Given the description of an element on the screen output the (x, y) to click on. 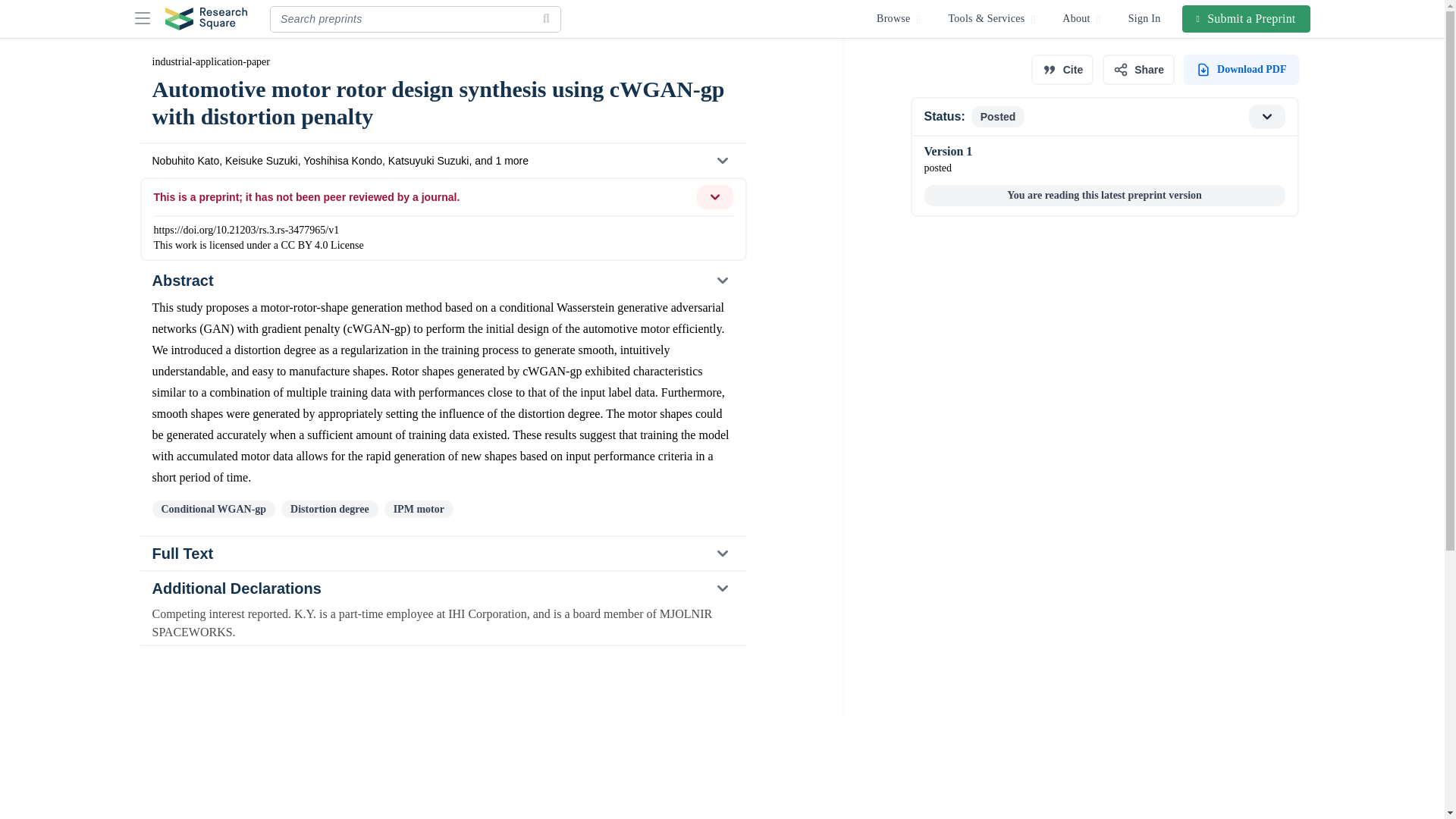
Abstract (442, 280)
PDF (1240, 69)
Additional Declarations (442, 588)
Share (1103, 116)
Sign In (1138, 69)
Full Text (1144, 18)
Submit a Preprint (442, 553)
